Given the description of an element on the screen output the (x, y) to click on. 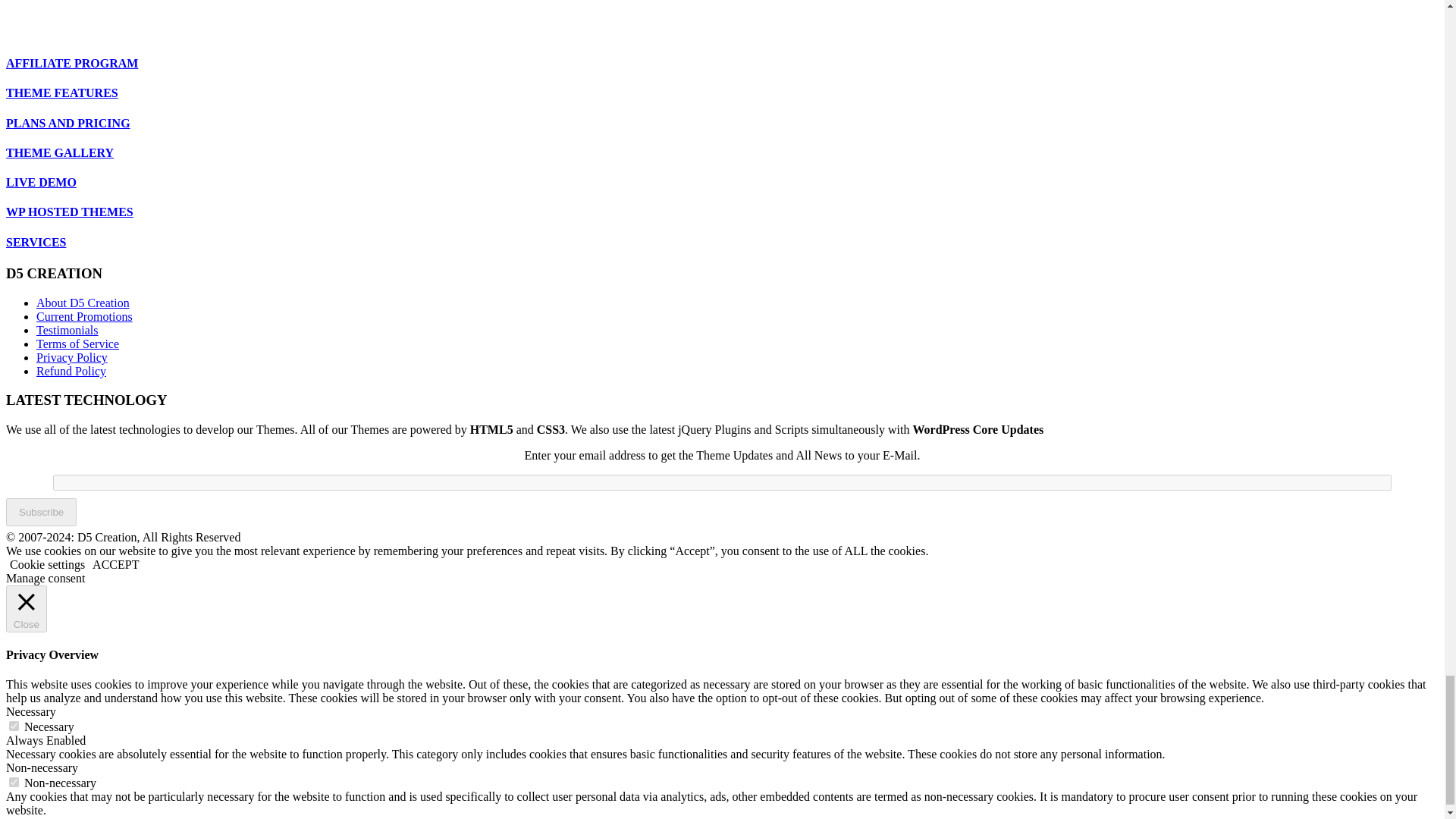
Subscribe (41, 511)
on (13, 782)
on (13, 726)
